Given the description of an element on the screen output the (x, y) to click on. 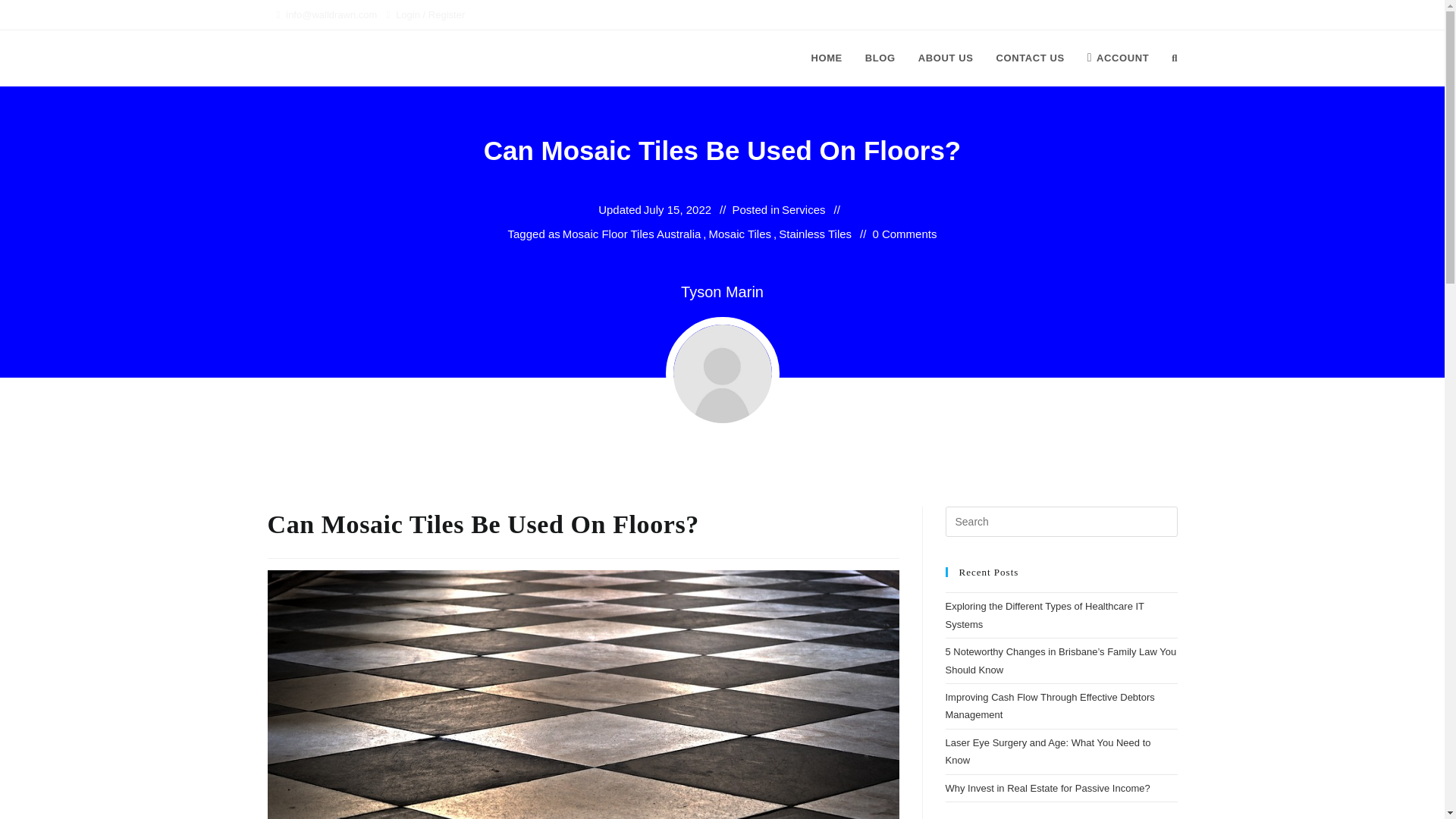
Tyson Marin (721, 291)
Stainless Tiles (814, 233)
BLOG (880, 58)
ACCOUNT (1117, 58)
ABOUT US (946, 58)
Login (408, 14)
0 Comments (904, 233)
Walldrawn (308, 58)
Mosaic Tiles (740, 233)
HOME (826, 58)
Services (803, 209)
Mosaic Floor Tiles Australia (631, 233)
CONTACT US (1029, 58)
Register (446, 14)
